Given the description of an element on the screen output the (x, y) to click on. 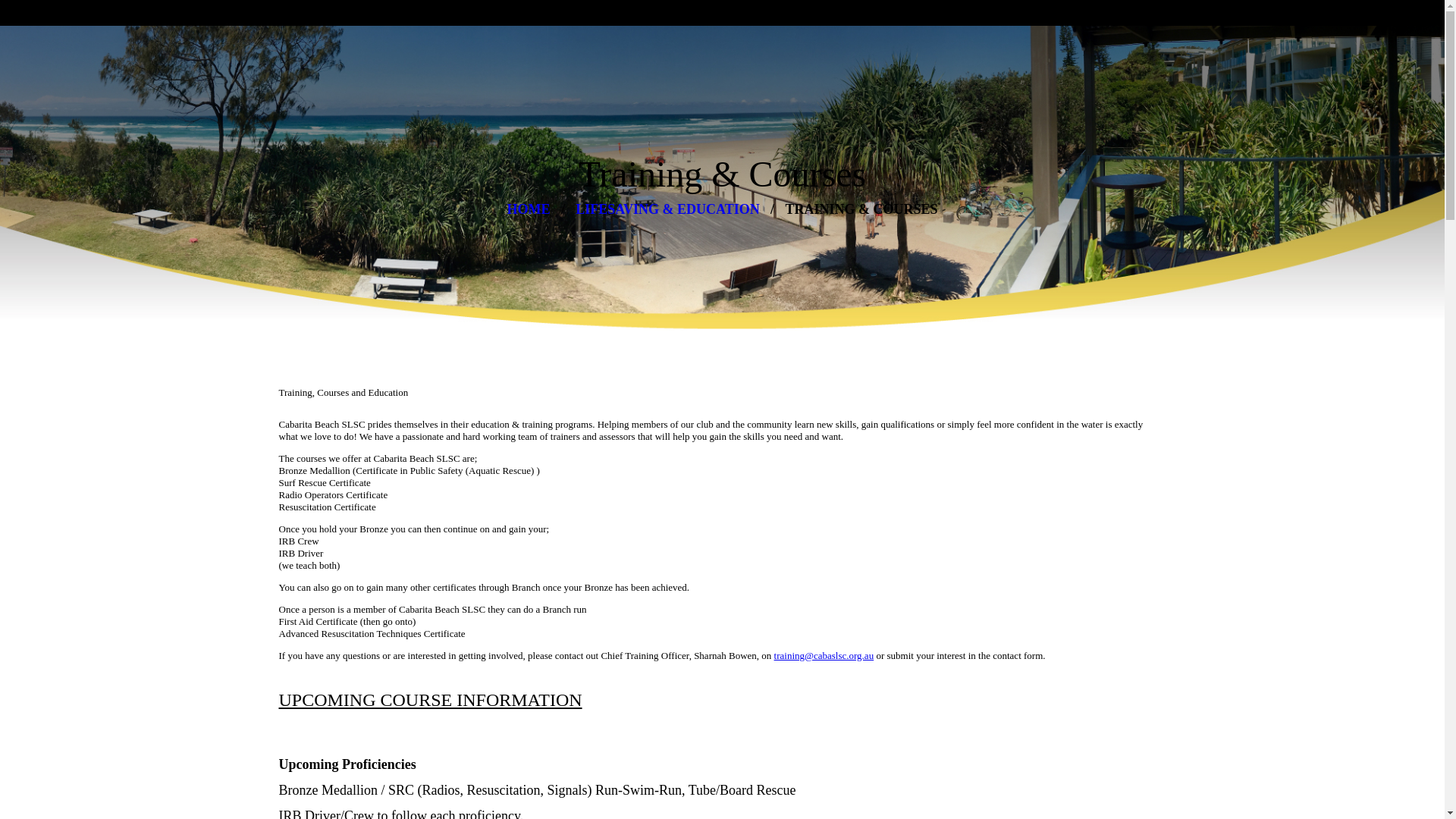
LIFESAVING & EDUCATION Element type: text (667, 208)
HOME Element type: text (527, 208)
training@cabaslsc.org.au Element type: text (824, 655)
